Given the description of an element on the screen output the (x, y) to click on. 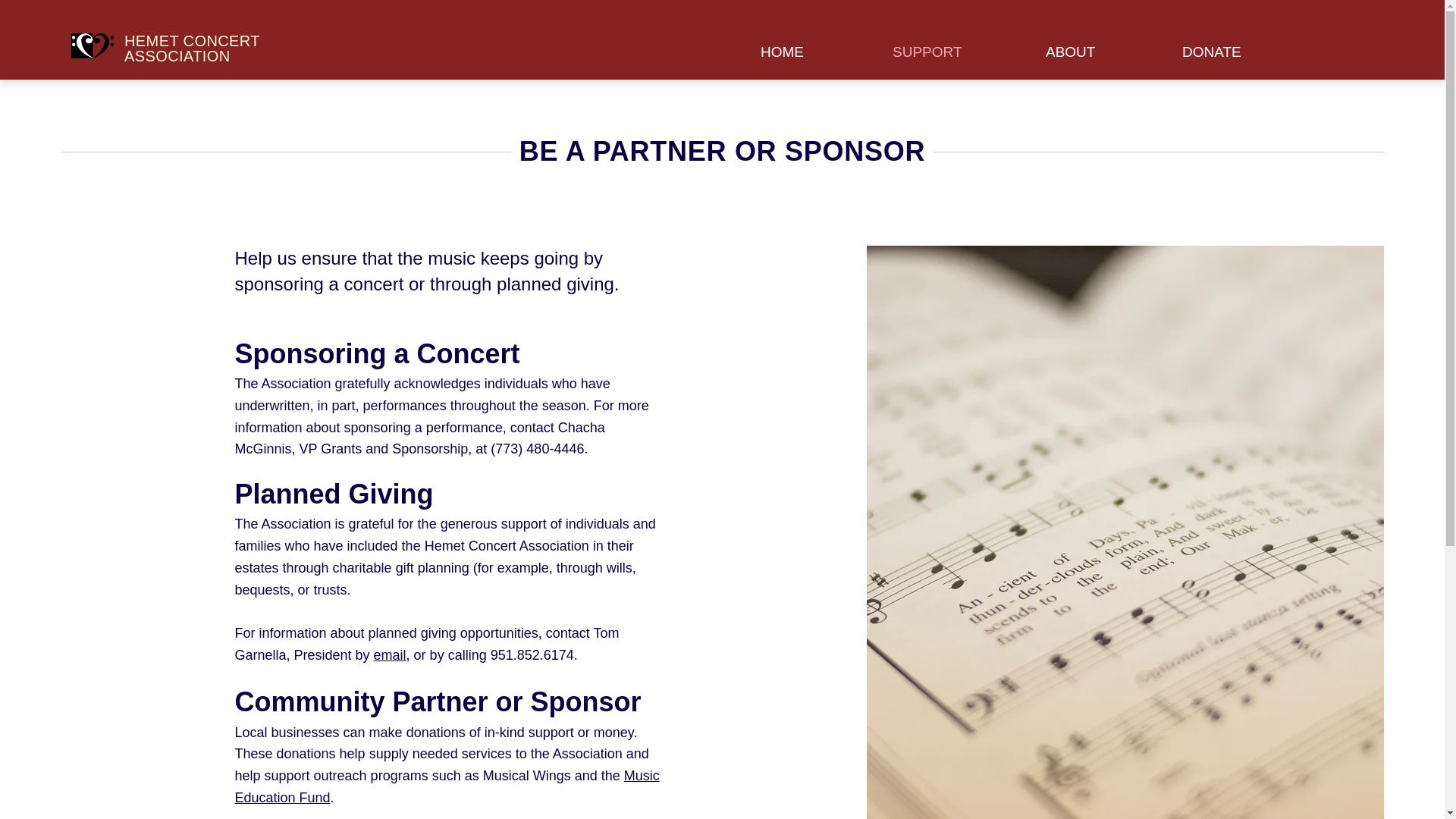
HOME (814, 52)
Music Education Fund (446, 786)
email (390, 654)
ABOUT (1101, 52)
DONATE (1243, 52)
HEMET CONCERT ASSOCIATION (191, 48)
SUPPORT (956, 52)
